Given the description of an element on the screen output the (x, y) to click on. 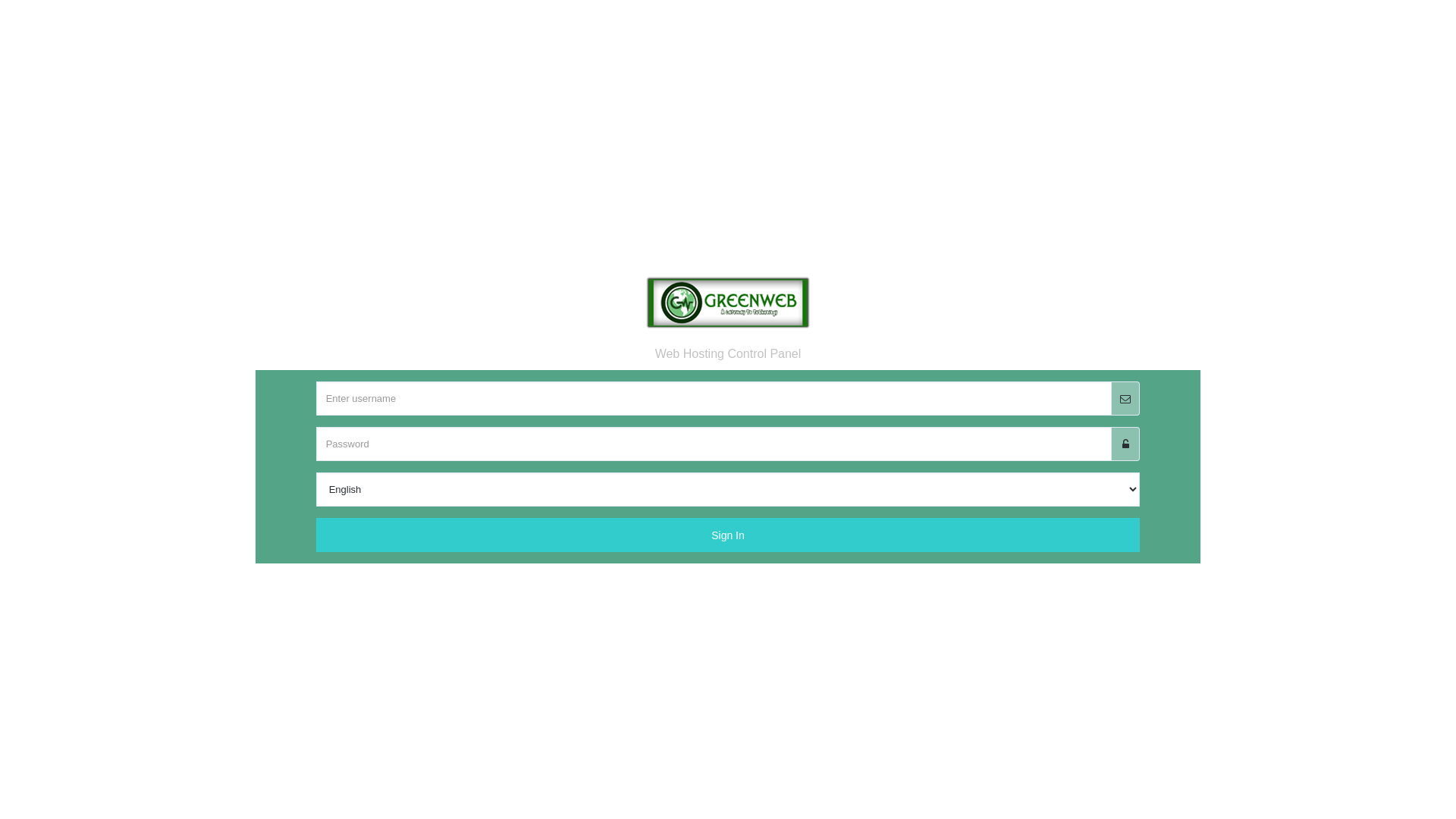
Sign In Element type: text (728, 547)
